Given the description of an element on the screen output the (x, y) to click on. 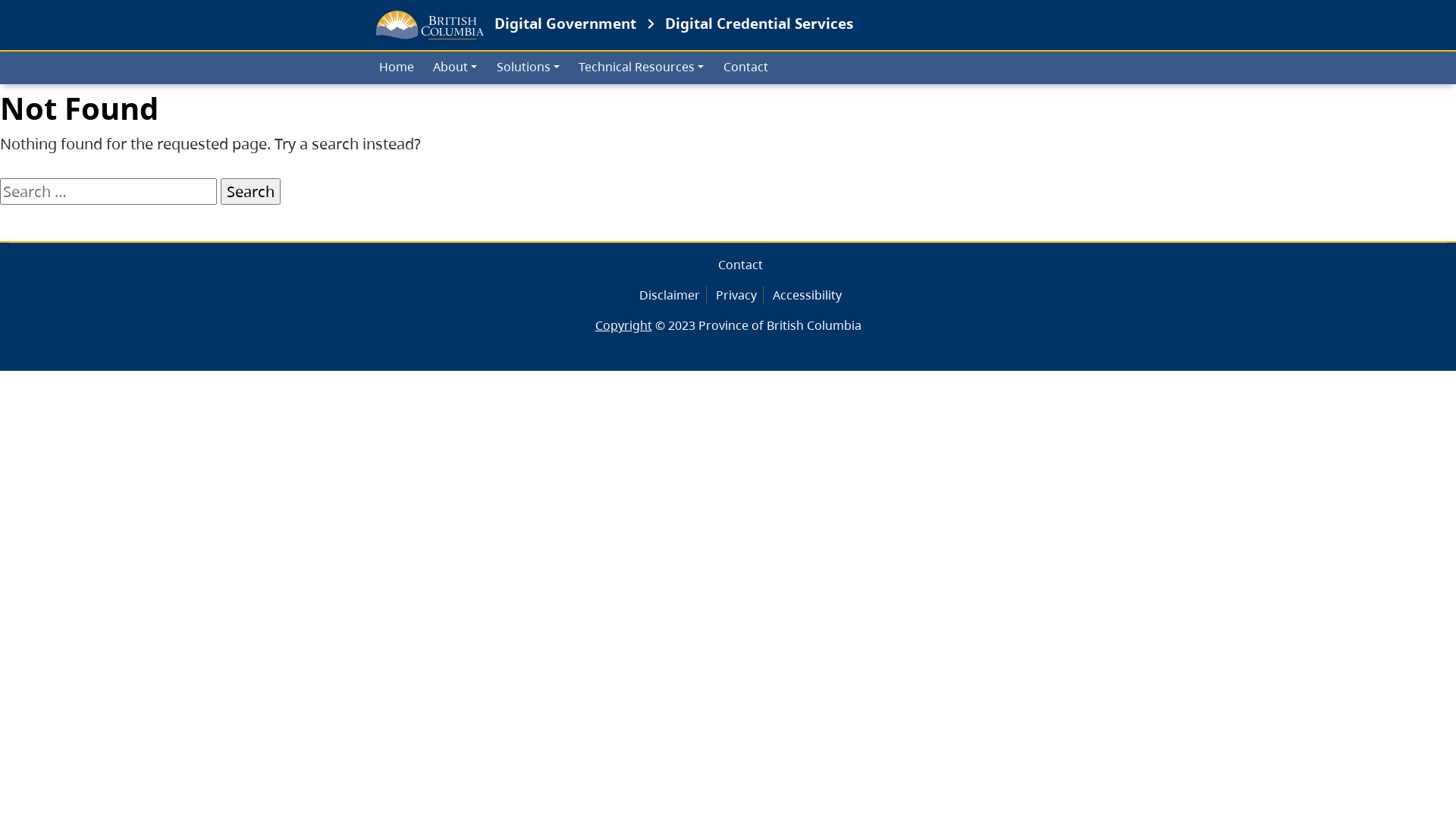
Digital Government Element type: text (500, 25)
Contact Element type: text (739, 264)
Home Element type: text (396, 67)
Technical Resources Element type: text (640, 67)
Digital Credential Services Element type: text (759, 23)
Contact Element type: text (745, 67)
Search Element type: text (250, 191)
About Element type: text (454, 67)
Privacy Element type: text (735, 294)
Solutions Element type: text (527, 67)
Disclaimer Element type: text (668, 294)
Copyright Element type: text (622, 324)
Accessibility Element type: text (805, 294)
